Given the description of an element on the screen output the (x, y) to click on. 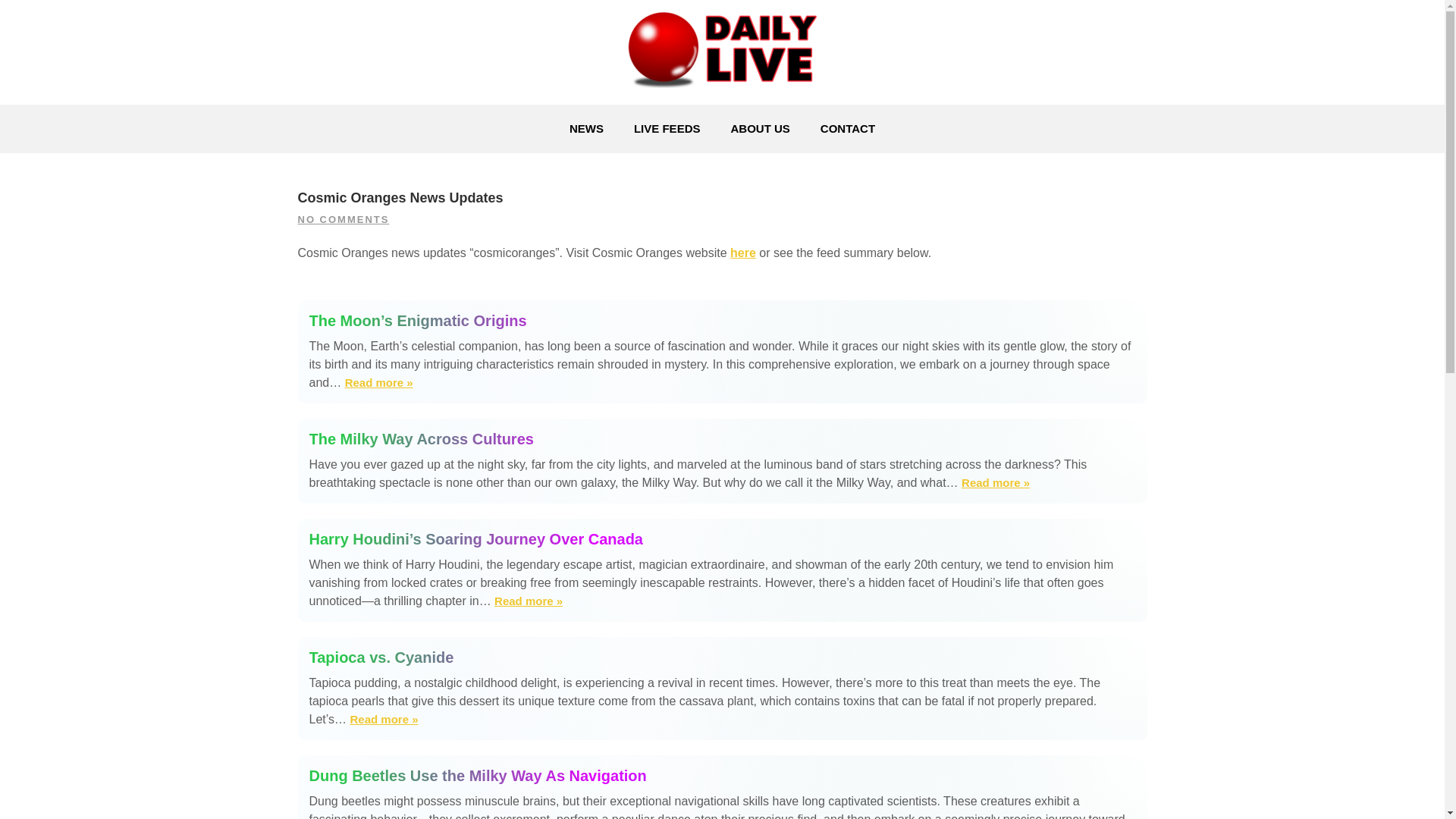
LIVE FEEDS (667, 128)
CONTACT (847, 128)
NEWS (586, 128)
Tapioca vs. Cyanide (383, 719)
The Milky Way Across Cultures (994, 483)
Dung Beetles Use the Milky Way As Navigation (721, 775)
Tapioca vs. Cyanide (721, 657)
The Milky Way Across Cultures (721, 438)
DAILY LIVE FEED (437, 113)
Tapioca vs. Cyanide (721, 657)
